Given the description of an element on the screen output the (x, y) to click on. 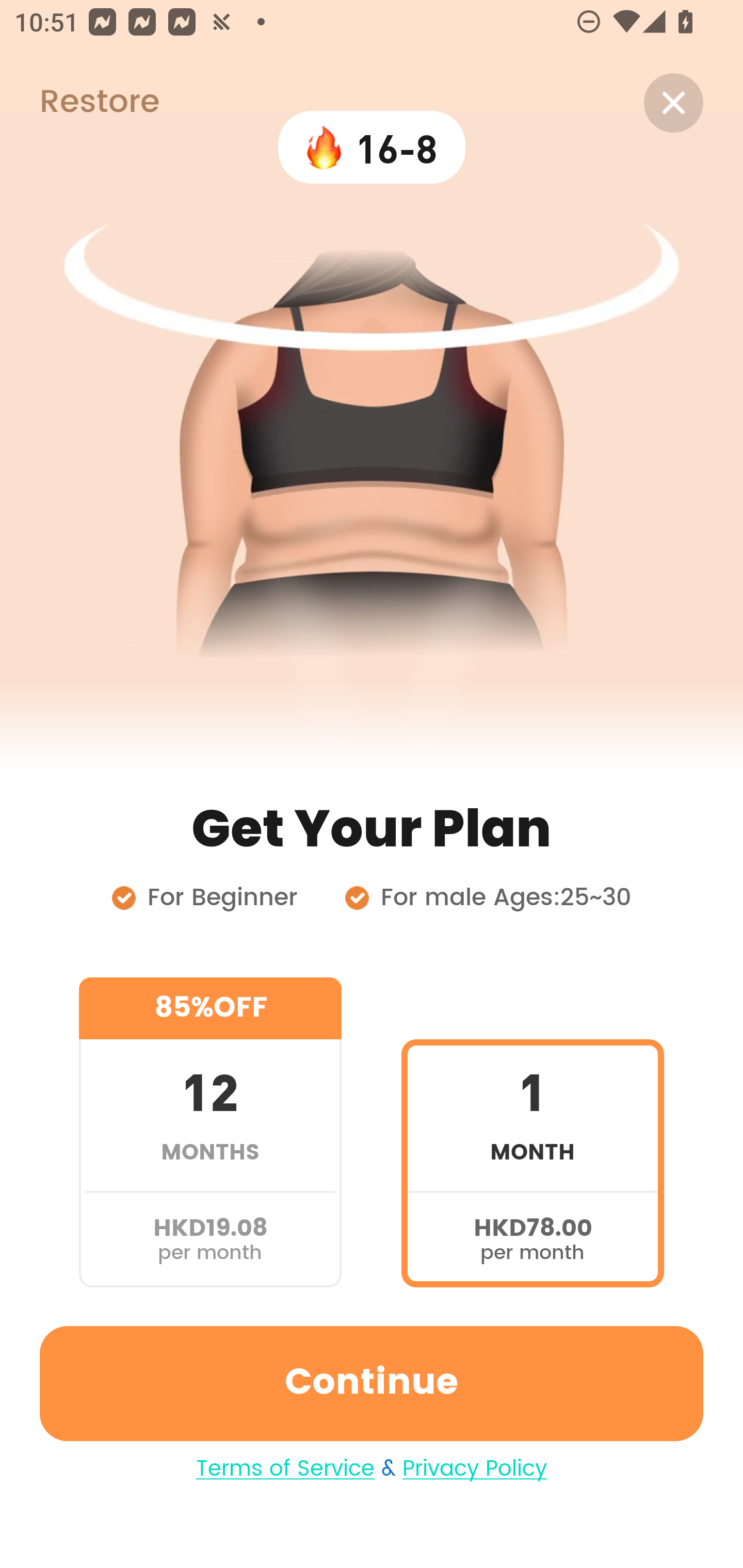
Restore (79, 102)
85%OFF 12 MONTHS per month HKD19.08 (209, 1131)
1 MONTH per month HKD78.00 (532, 1131)
Continue (371, 1383)
